Given the description of an element on the screen output the (x, y) to click on. 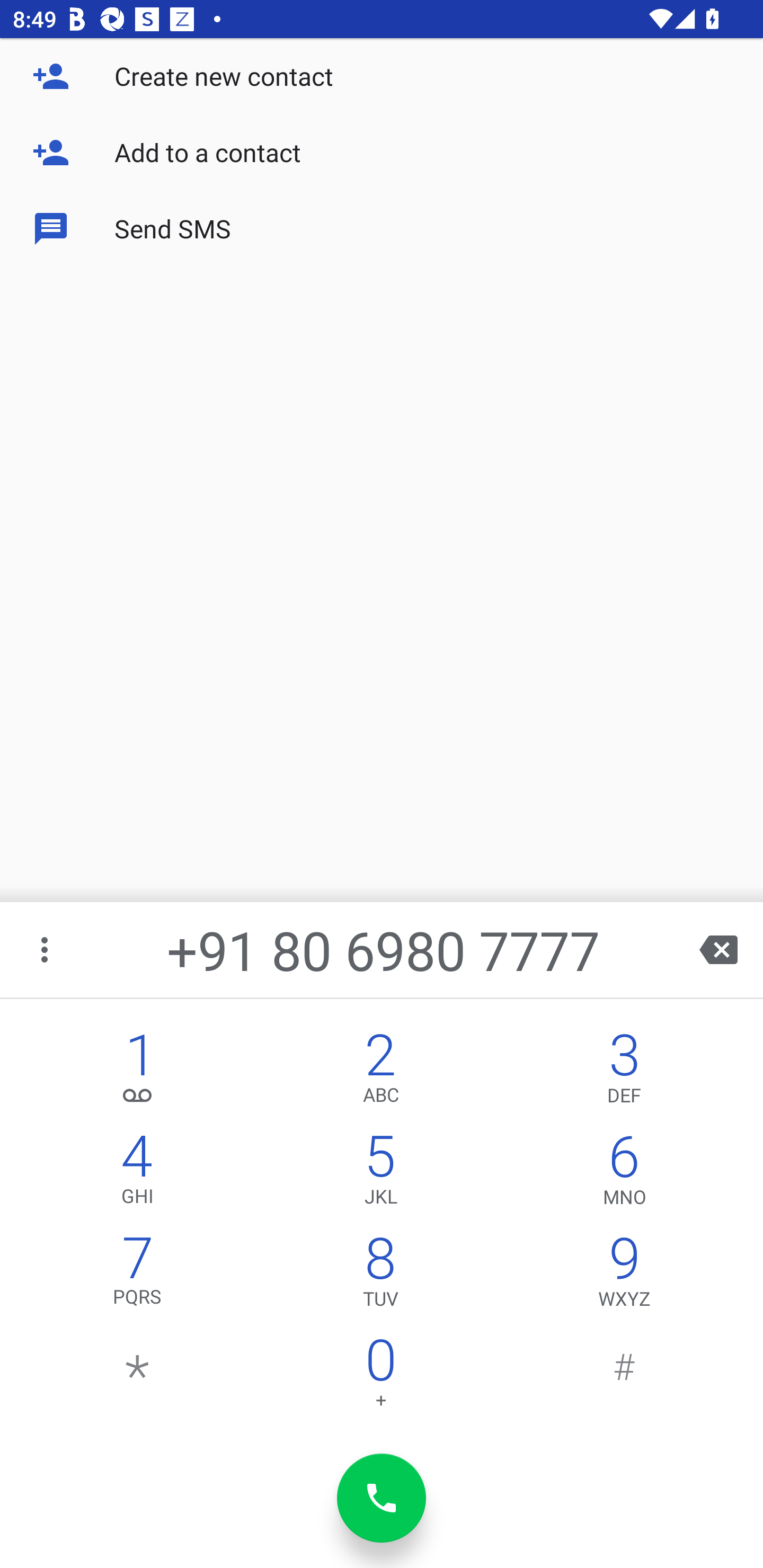
Create new contact (381, 75)
Add to a contact (381, 152)
Send SMS (381, 228)
+91 80 6980 7777 (382, 949)
backspace (718, 949)
More options (45, 949)
1, 1 (137, 1071)
2,ABC 2 ABC (380, 1071)
3,DEF 3 DEF (624, 1071)
4,GHI 4 GHI (137, 1173)
5,JKL 5 JKL (380, 1173)
6,MNO 6 MNO (624, 1173)
7,PQRS 7 PQRS (137, 1275)
8,TUV 8 TUV (380, 1275)
9,WXYZ 9 WXYZ (624, 1275)
* (137, 1377)
0 0 + (380, 1377)
# (624, 1377)
dial (381, 1497)
